Given the description of an element on the screen output the (x, y) to click on. 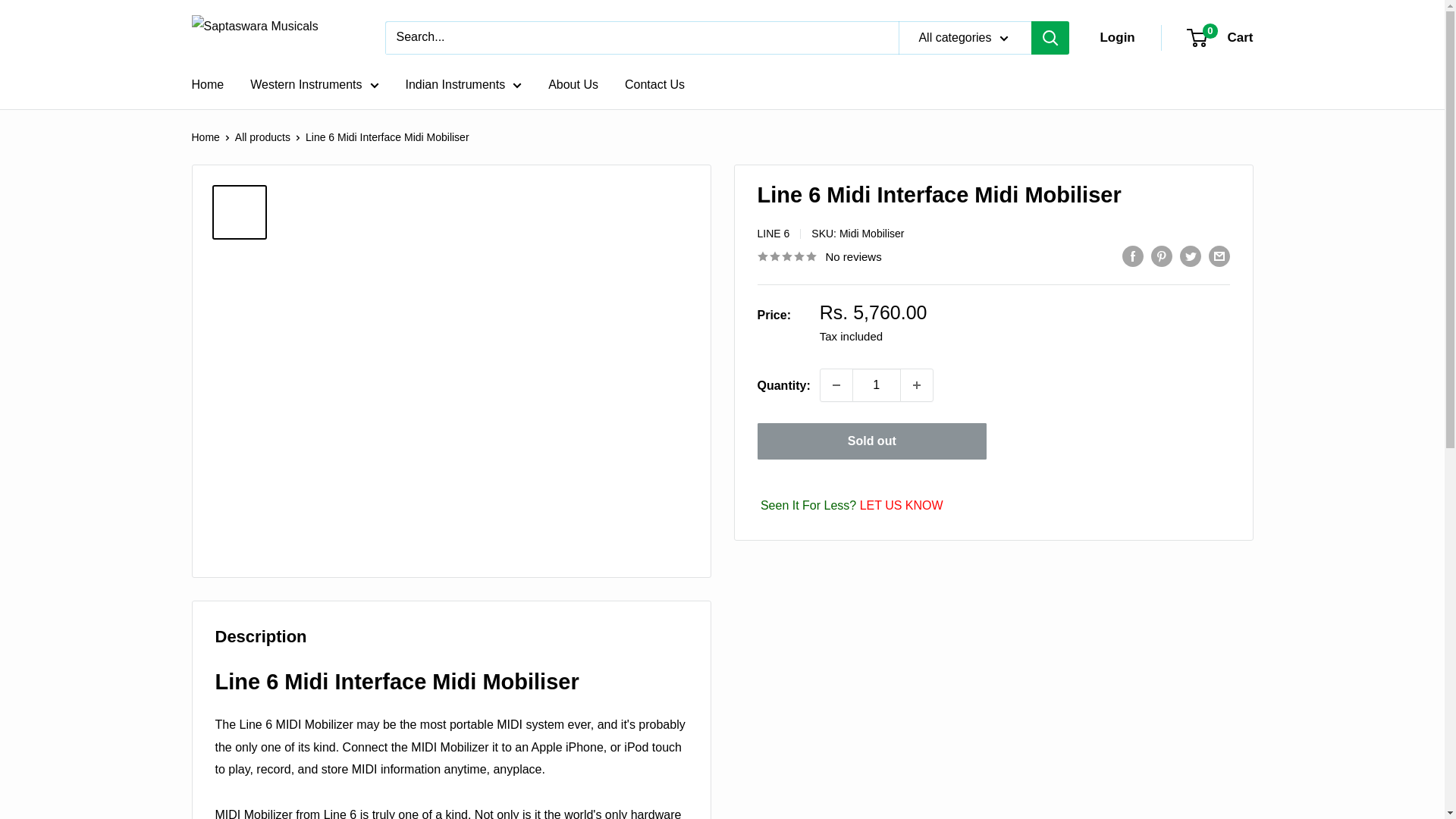
Increase quantity by 1 (917, 385)
1 (876, 385)
Decrease quantity by 1 (836, 385)
